Given the description of an element on the screen output the (x, y) to click on. 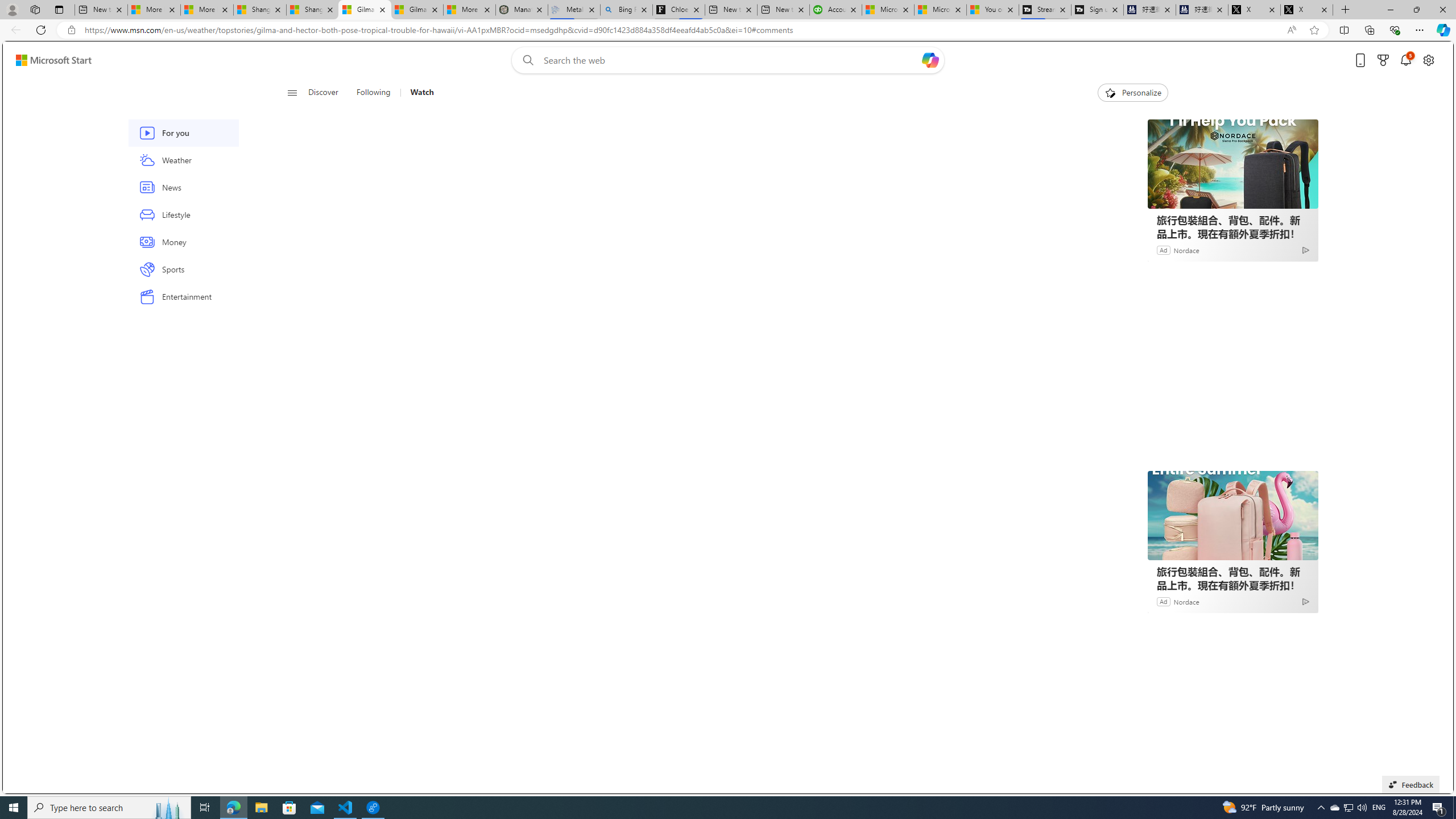
Personalize (1132, 92)
Web search (526, 60)
Open navigation menu (292, 92)
Open settings (1427, 60)
Skip to footer (46, 59)
